Given the description of an element on the screen output the (x, y) to click on. 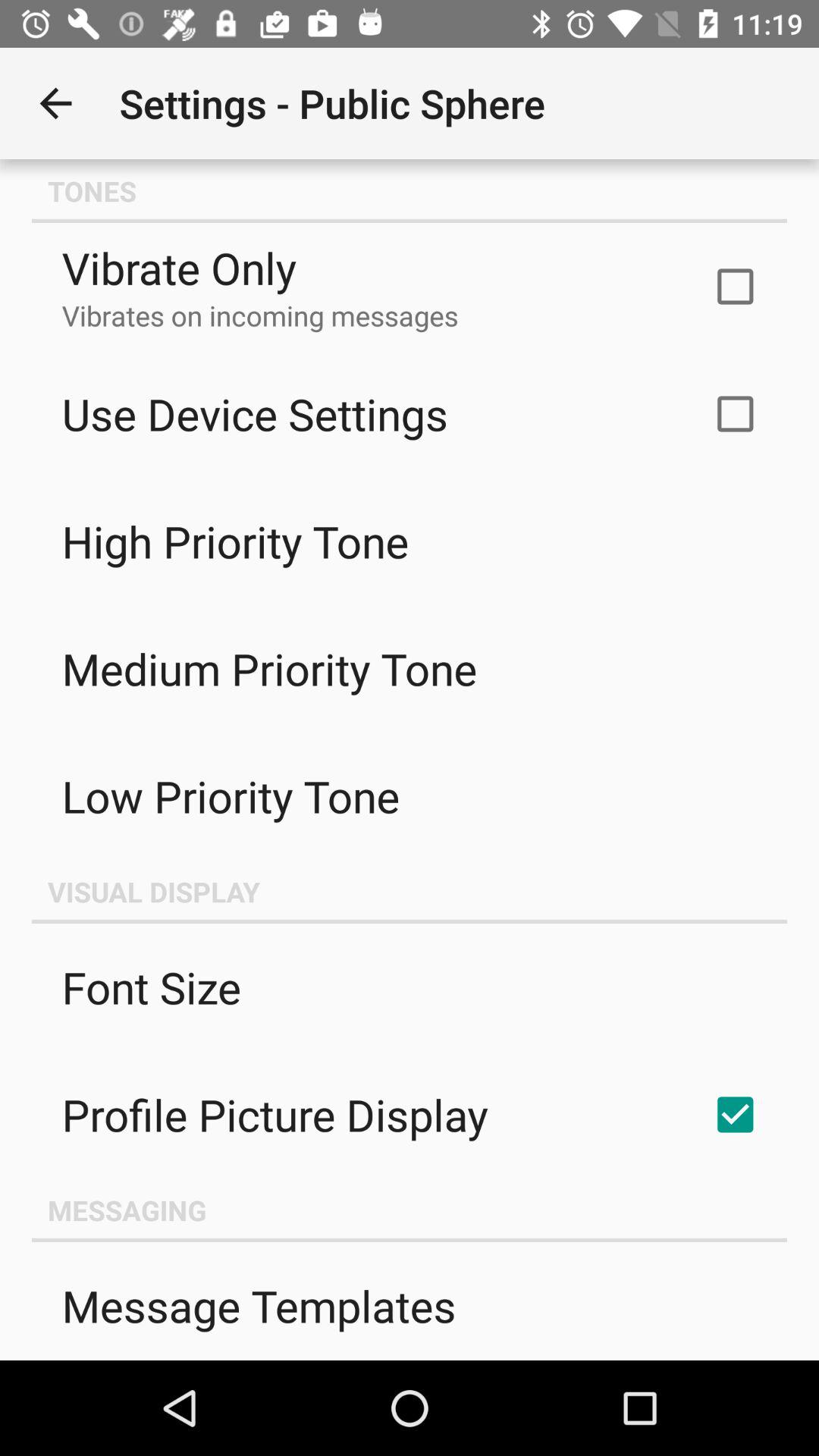
click the item above the font size icon (409, 891)
